Given the description of an element on the screen output the (x, y) to click on. 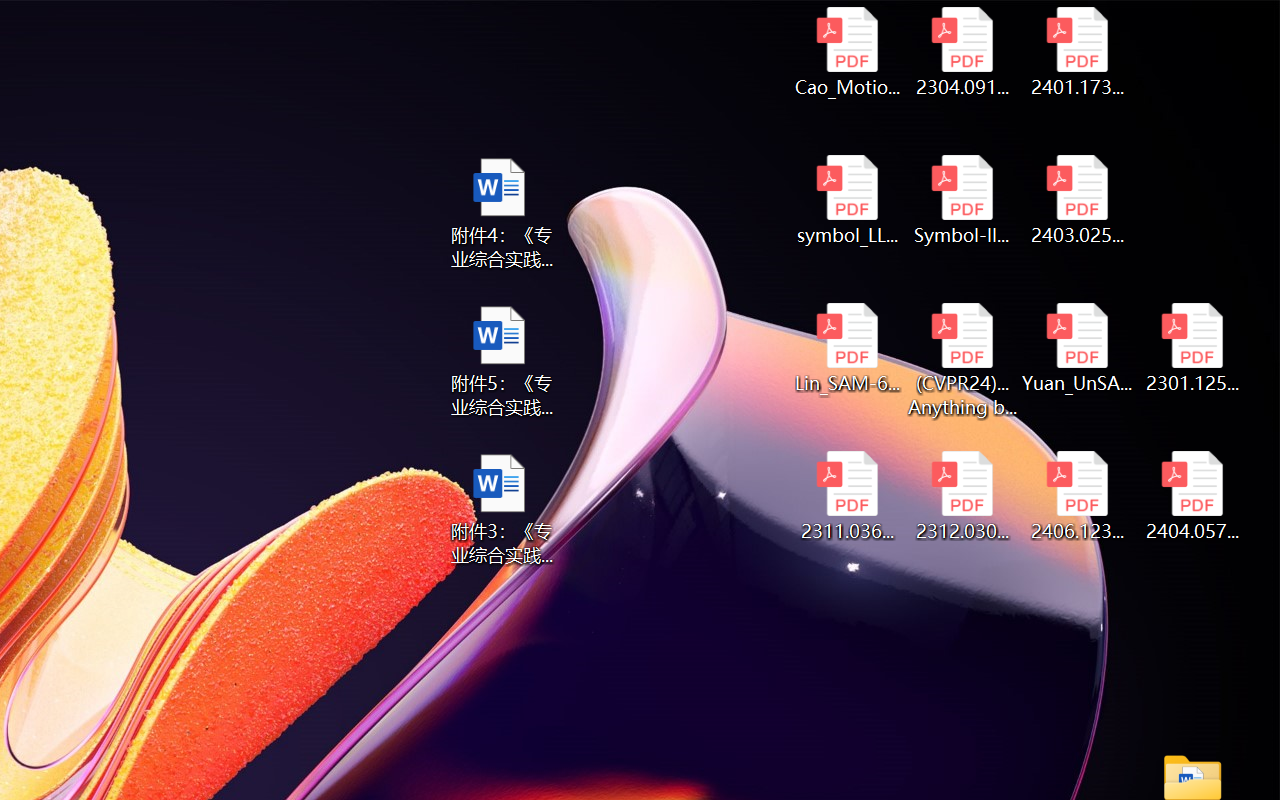
2304.09121v3.pdf (962, 52)
2401.17399v1.pdf (1077, 52)
2406.12373v2.pdf (1077, 496)
2312.03032v2.pdf (962, 496)
symbol_LLM.pdf (846, 200)
2403.02502v1.pdf (1077, 200)
Symbol-llm-v2.pdf (962, 200)
(CVPR24)Matching Anything by Segmenting Anything.pdf (962, 360)
2301.12597v3.pdf (1192, 348)
